Given the description of an element on the screen output the (x, y) to click on. 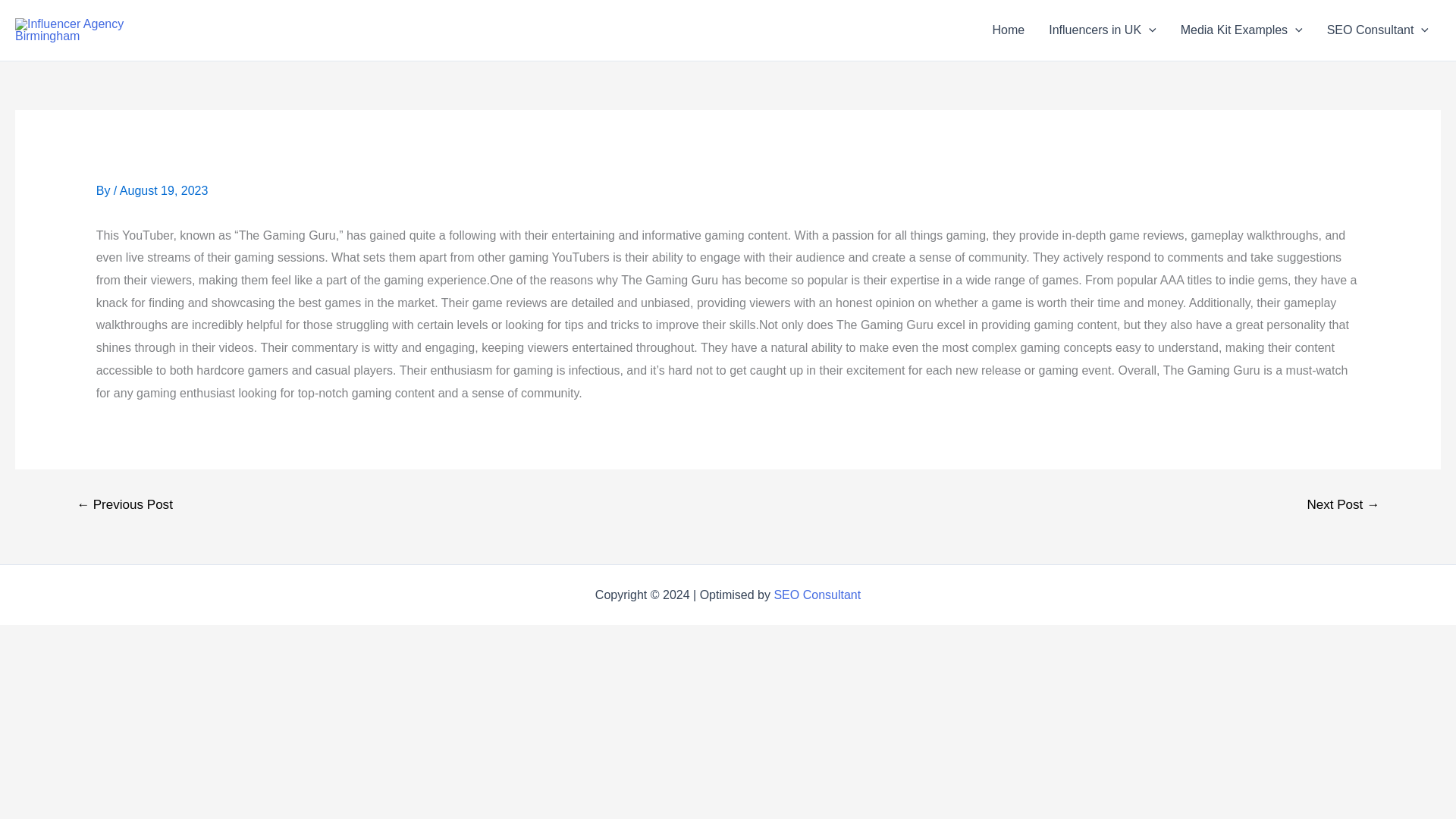
Home (1007, 30)
Influencers in UK (1101, 30)
Media Kit Examples (1241, 30)
SEO Consultant (1377, 30)
